Given the description of an element on the screen output the (x, y) to click on. 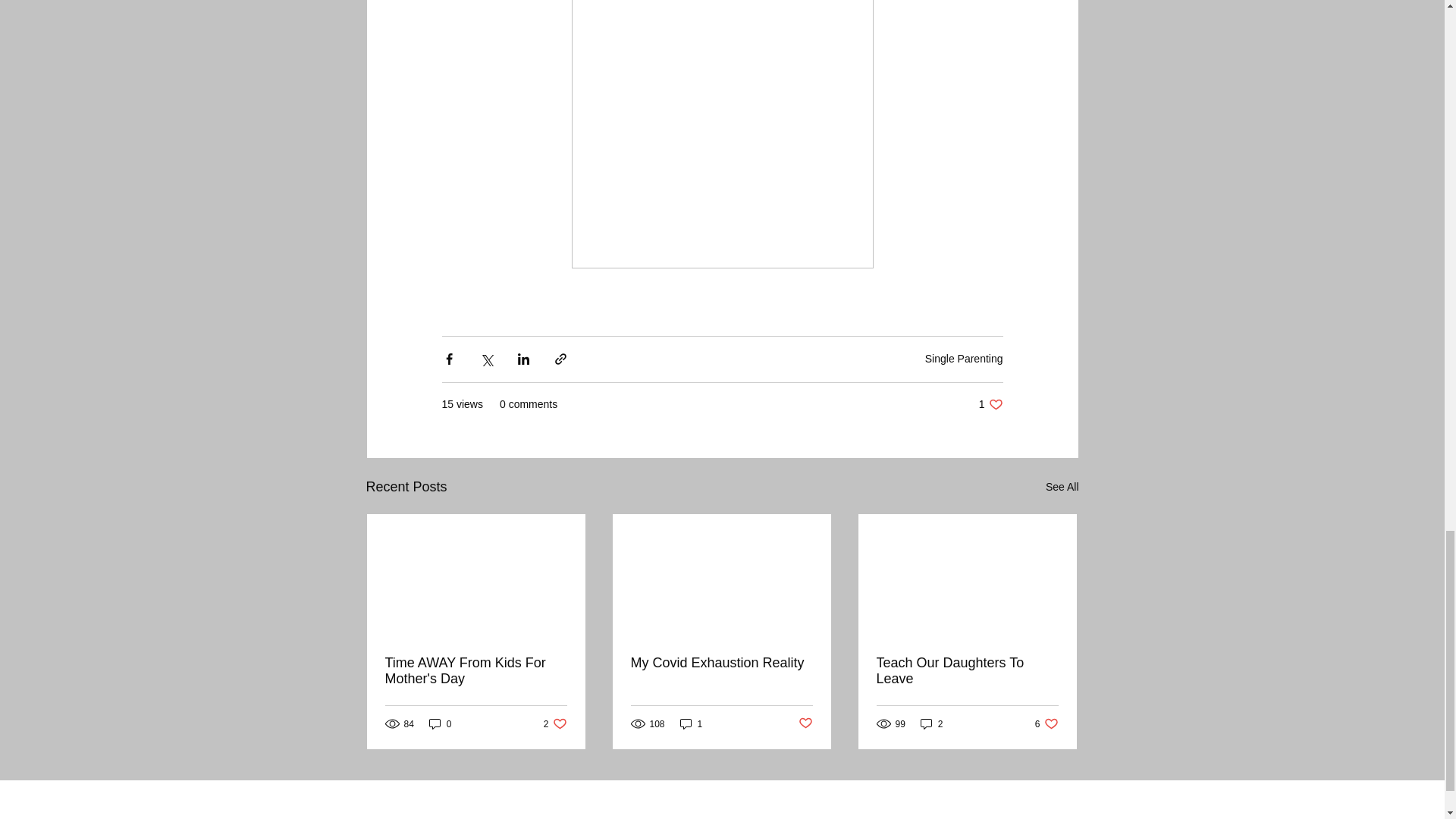
My Covid Exhaustion Reality (555, 723)
1 (1046, 723)
Teach Our Daughters To Leave (721, 662)
Single Parenting (691, 723)
Post not marked as liked (967, 671)
See All (963, 358)
0 (990, 404)
2 (804, 723)
Time AWAY From Kids For Mother's Day (1061, 486)
